Given the description of an element on the screen output the (x, y) to click on. 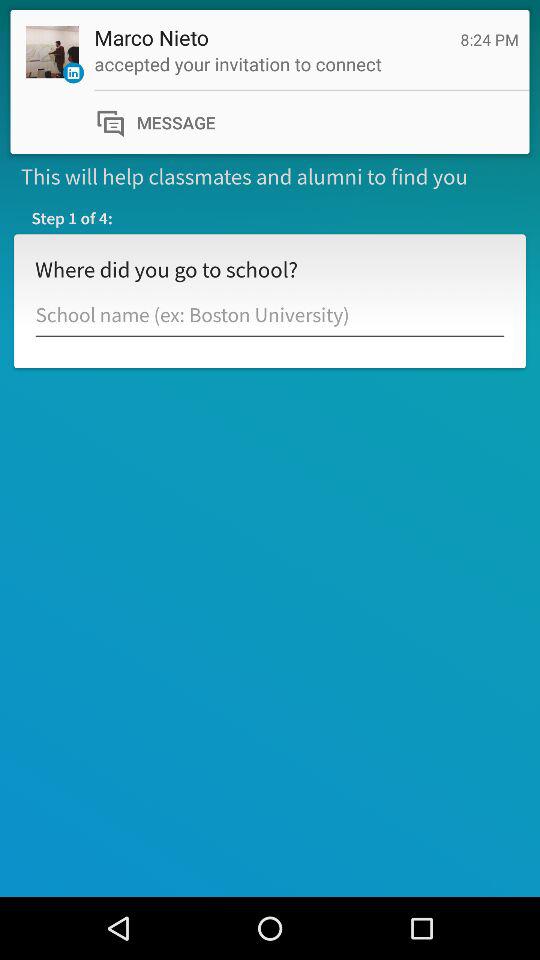
input field (269, 315)
